Given the description of an element on the screen output the (x, y) to click on. 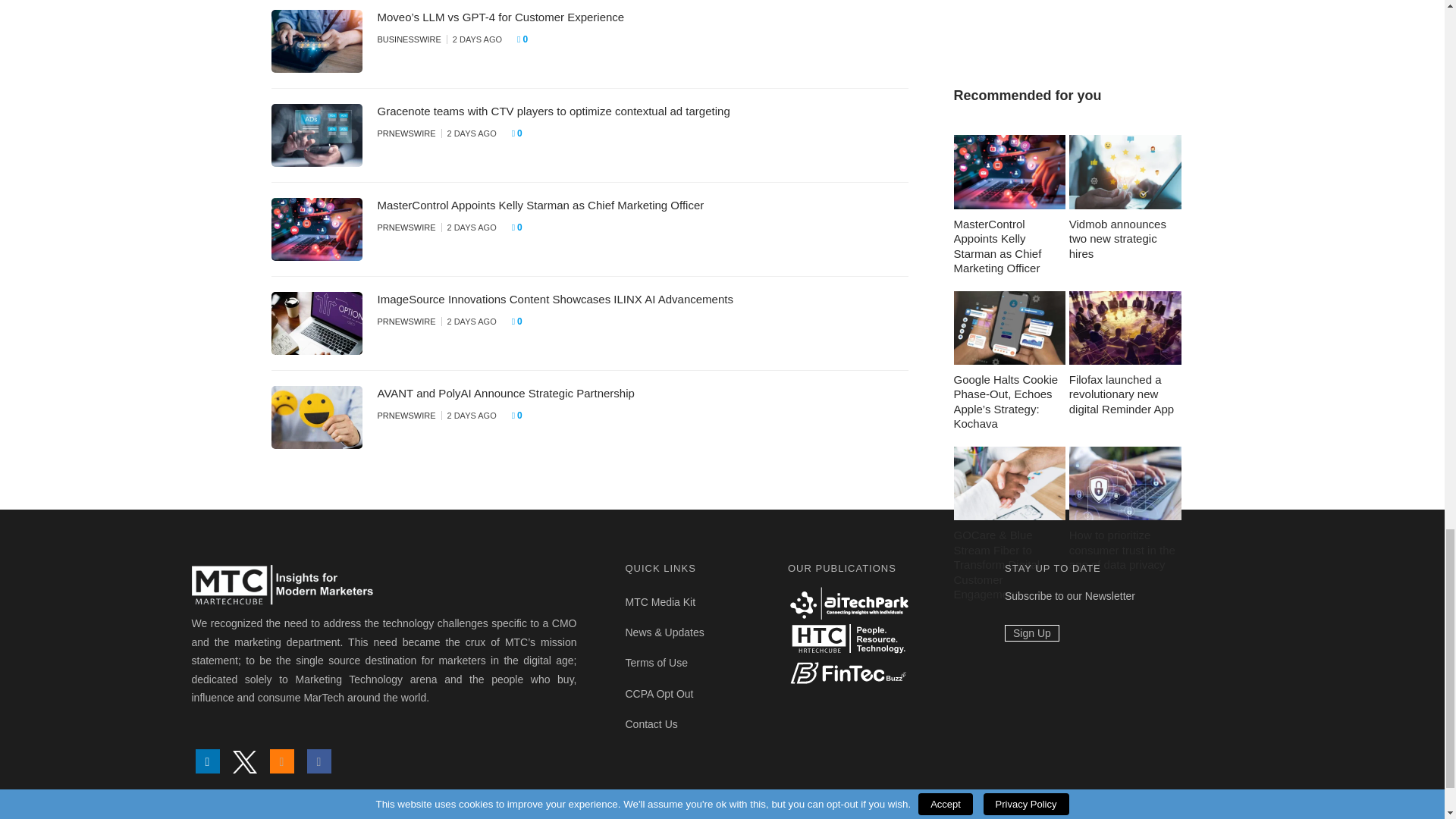
Comments (521, 321)
Comments (526, 39)
Comments (521, 133)
View all posts by BusinessWire (409, 39)
View all posts by PRNewswire (406, 226)
View all posts by PRNewswire (406, 320)
Comments (521, 227)
View all posts by PRNewswire (406, 133)
